Given the description of an element on the screen output the (x, y) to click on. 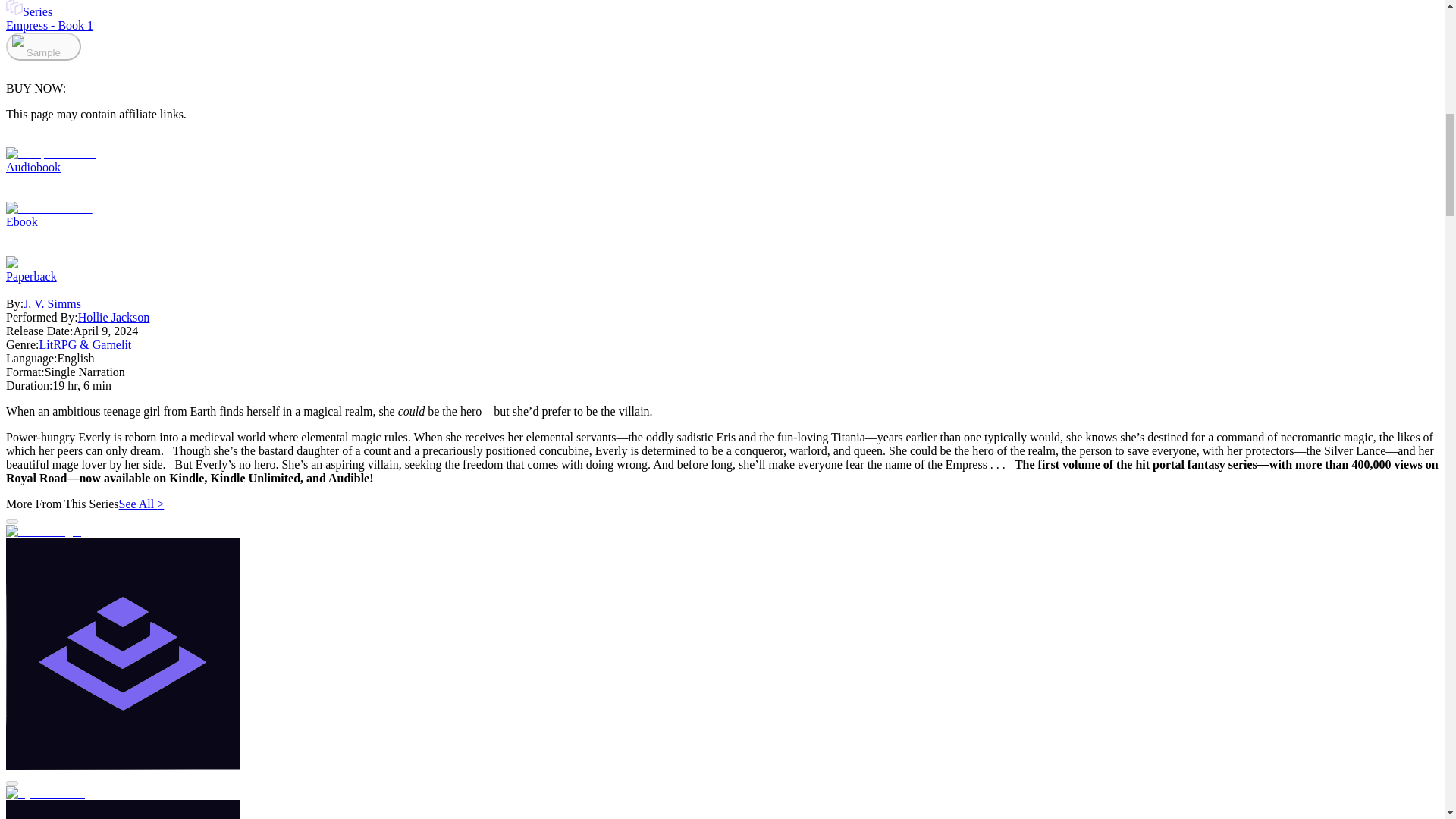
J. V. Simms (52, 303)
Sample (43, 46)
Hollie Jackson (113, 317)
